Given the description of an element on the screen output the (x, y) to click on. 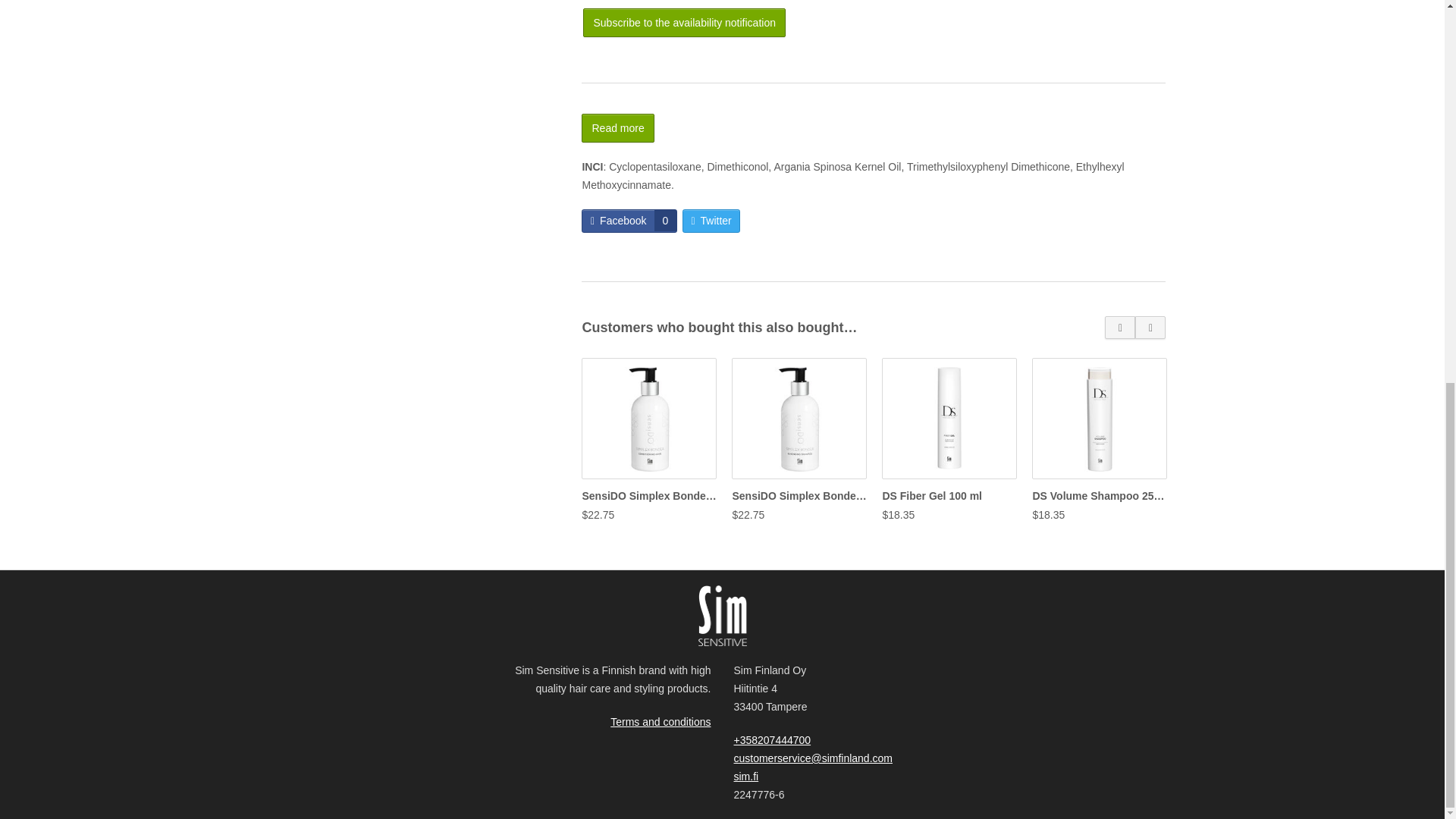
Read more (616, 127)
Subscribe to the availability notification (628, 220)
Twitter (683, 22)
